Given the description of an element on the screen output the (x, y) to click on. 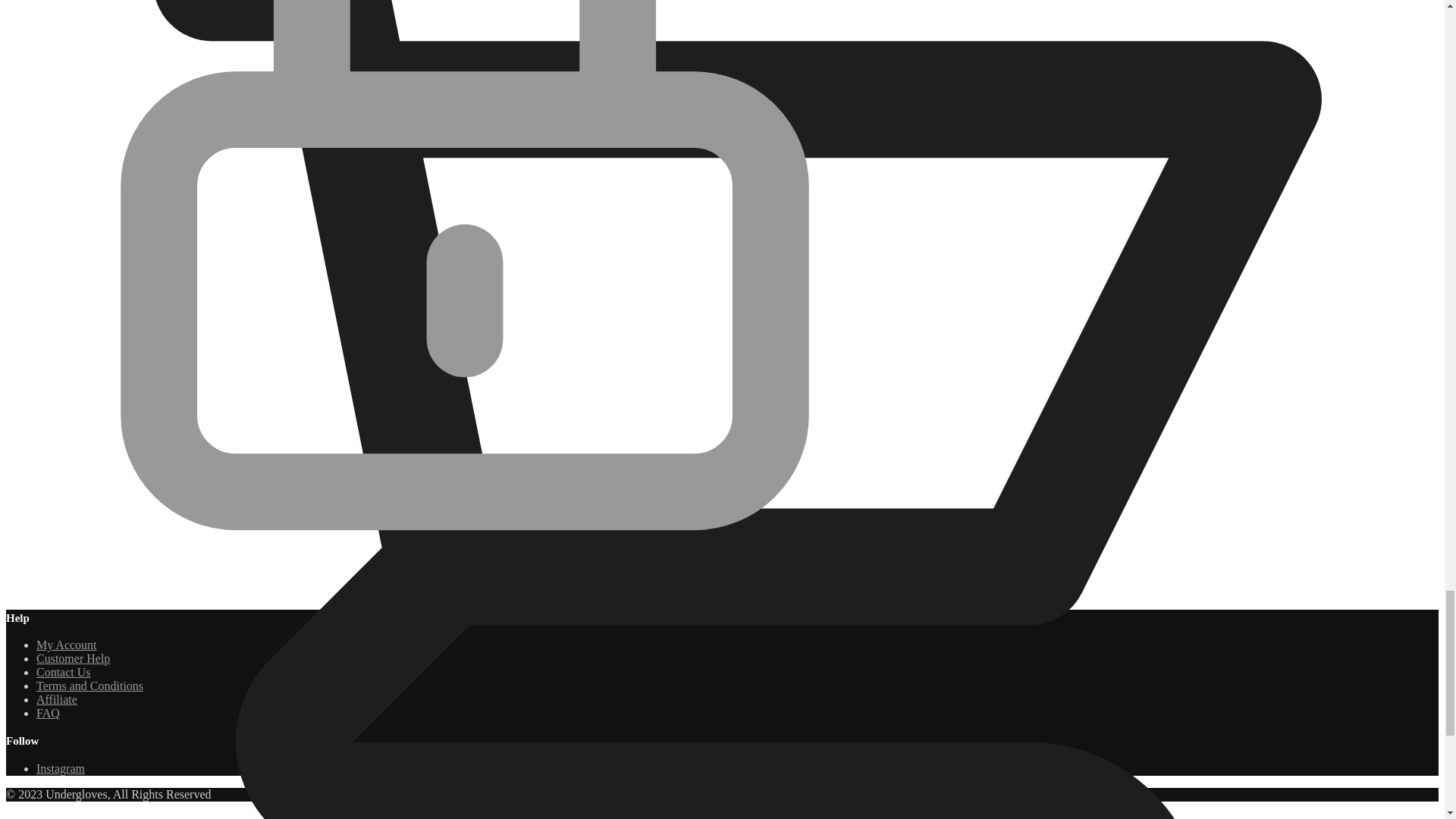
Affiliate (56, 698)
FAQ (47, 712)
Contact Us (63, 671)
Instagram (60, 768)
Customer Help (73, 658)
My Account (66, 644)
Terms and Conditions (89, 685)
